Given the description of an element on the screen output the (x, y) to click on. 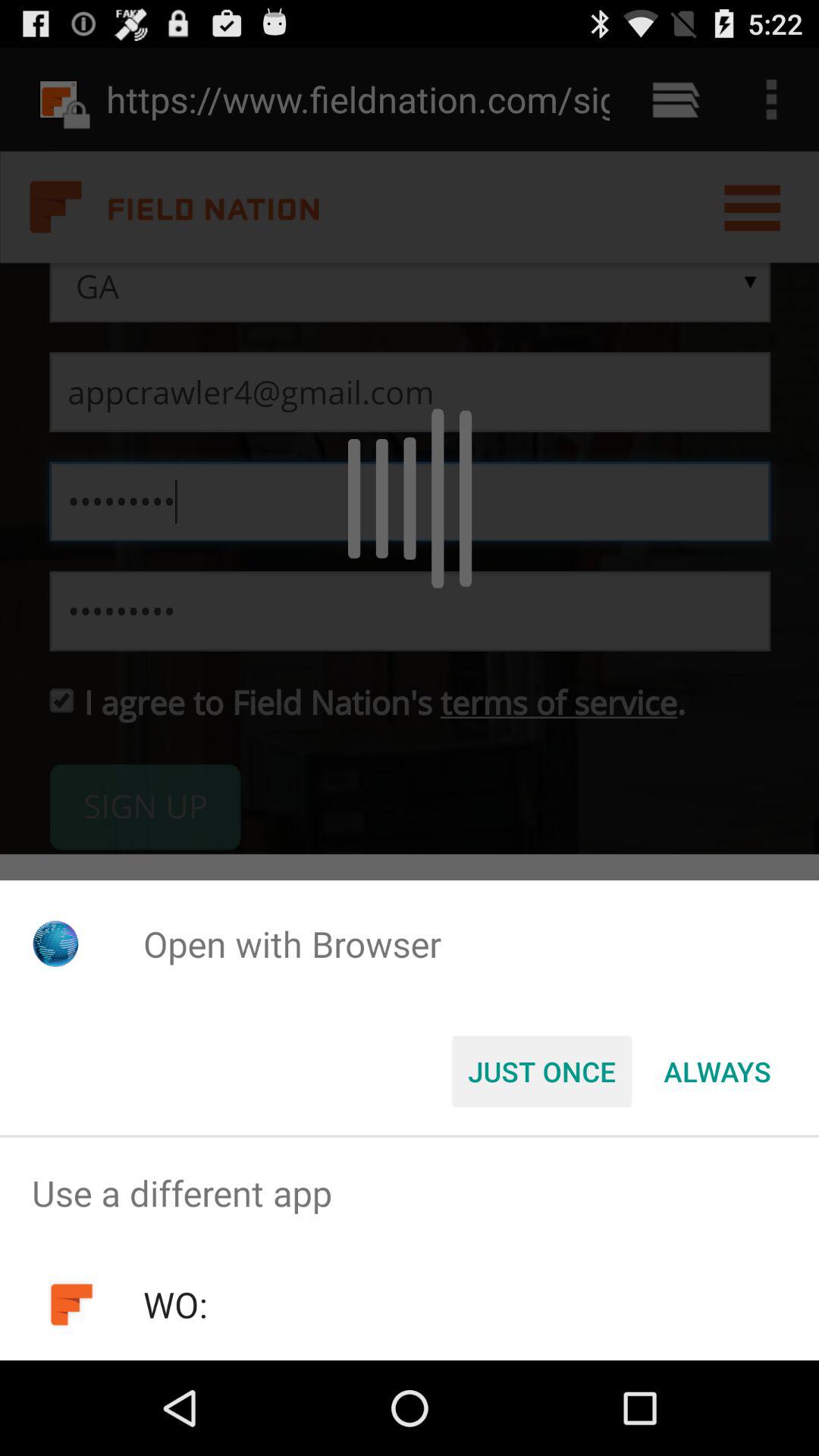
turn off icon below use a different item (175, 1304)
